Given the description of an element on the screen output the (x, y) to click on. 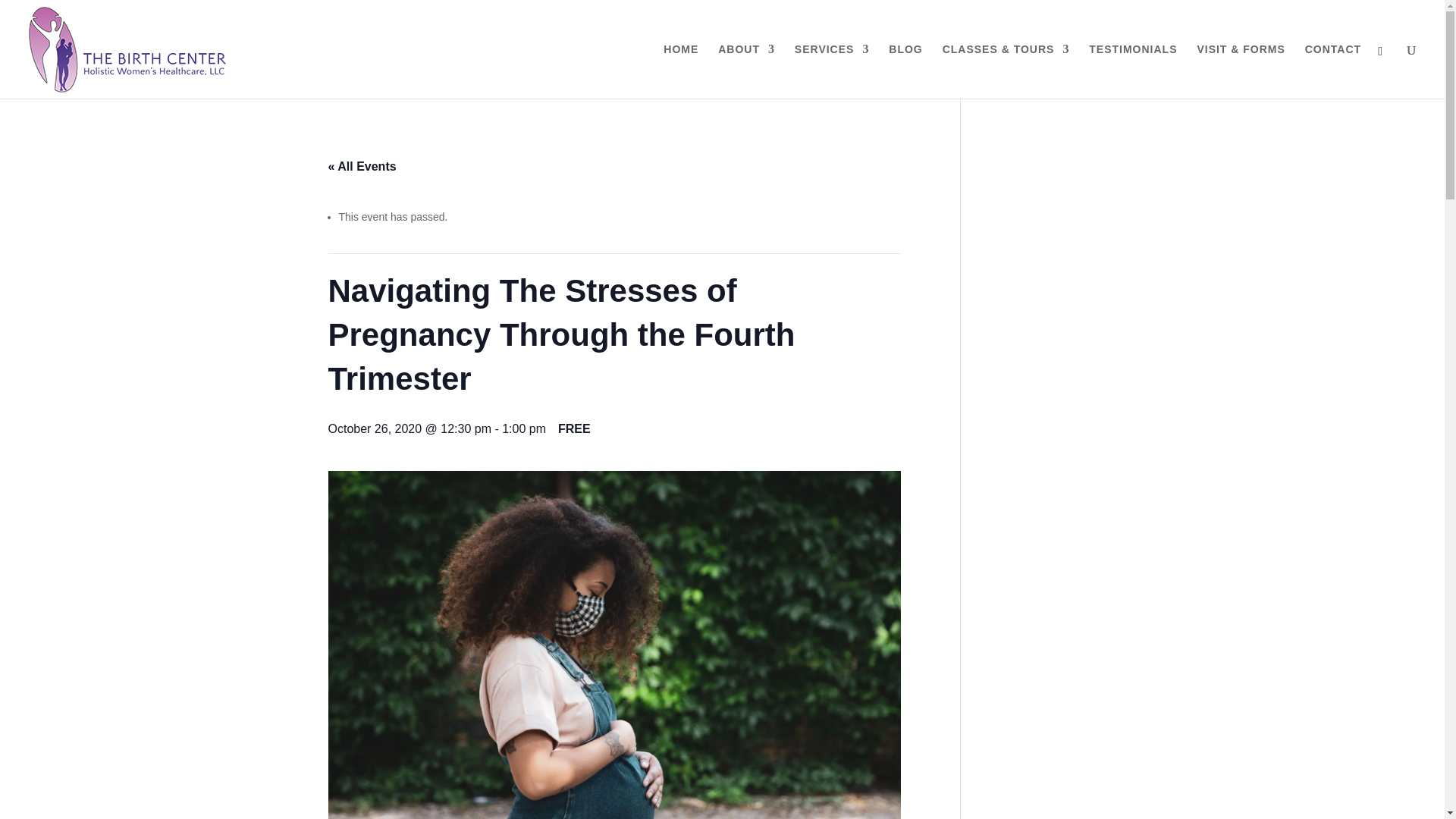
TESTIMONIALS (1132, 71)
SERVICES (831, 71)
CONTACT (1332, 71)
ABOUT (745, 71)
